Given the description of an element on the screen output the (x, y) to click on. 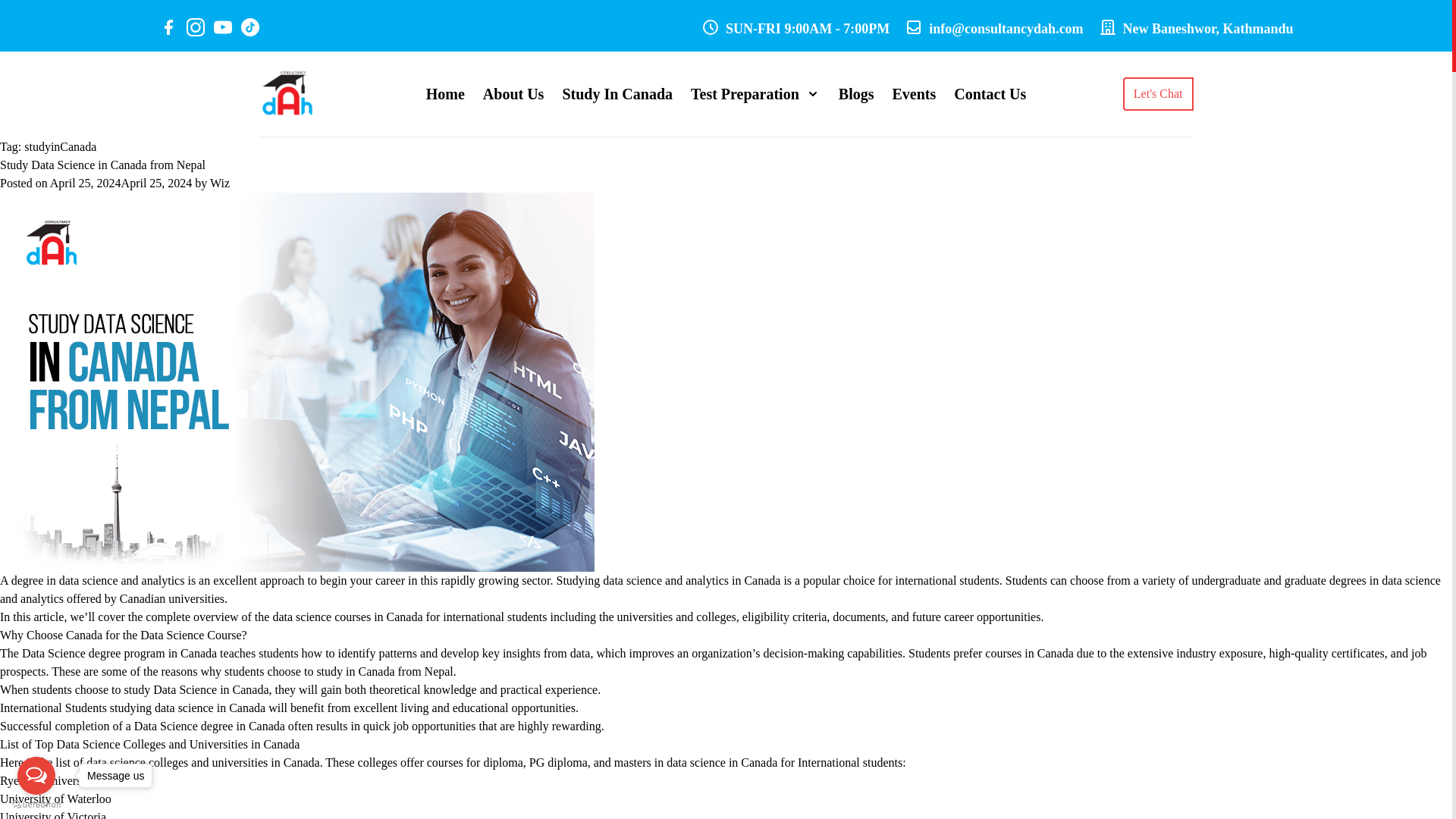
Home (445, 93)
Test Preparation (755, 93)
study in Canada from Nepal (383, 671)
Study Data Science in Canada from Nepal (102, 164)
Contact Us (989, 93)
Blogs (856, 93)
About Us (513, 93)
Study In Canada (617, 93)
Consultancy DAH (287, 93)
Let's Chat (1157, 93)
April 25, 2024April 25, 2024 (120, 182)
Wiz (219, 182)
Events (913, 93)
